Given the description of an element on the screen output the (x, y) to click on. 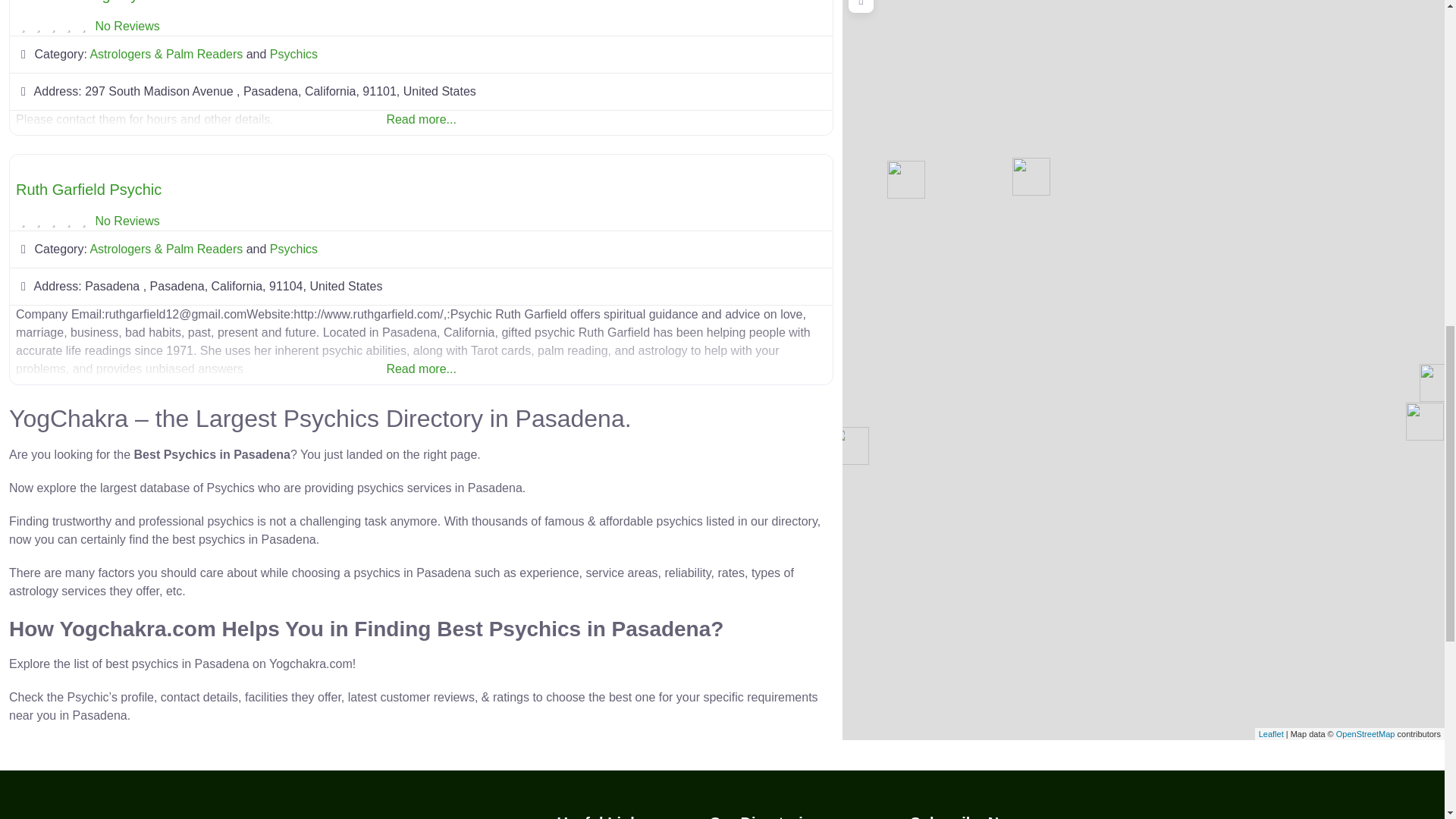
No rating yet! (53, 221)
View: Tarot Readings by Sonia (98, 1)
View: Ruth Garfield Psychic (88, 189)
No rating yet! (53, 26)
